Given the description of an element on the screen output the (x, y) to click on. 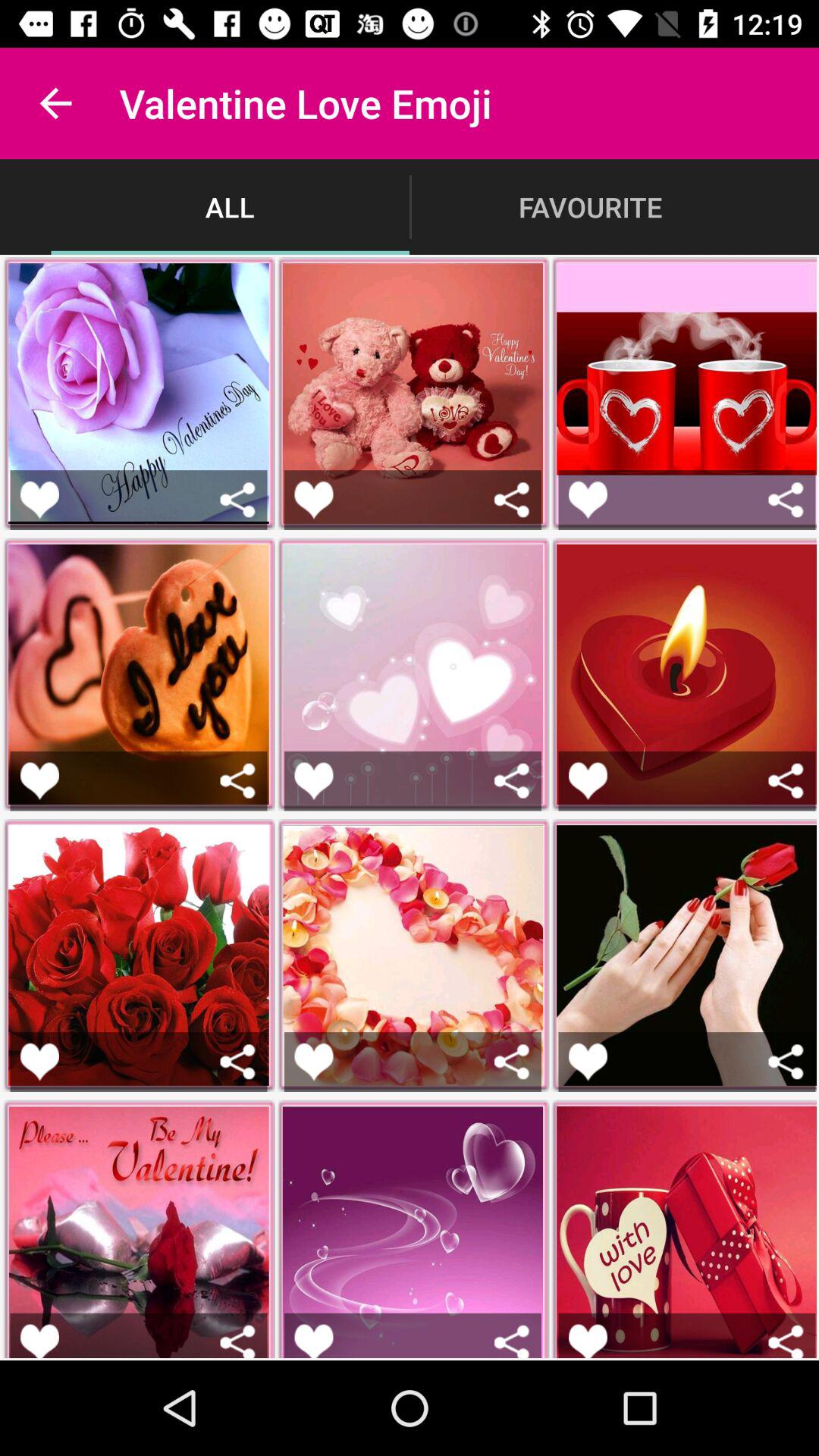
share (785, 1061)
